Given the description of an element on the screen output the (x, y) to click on. 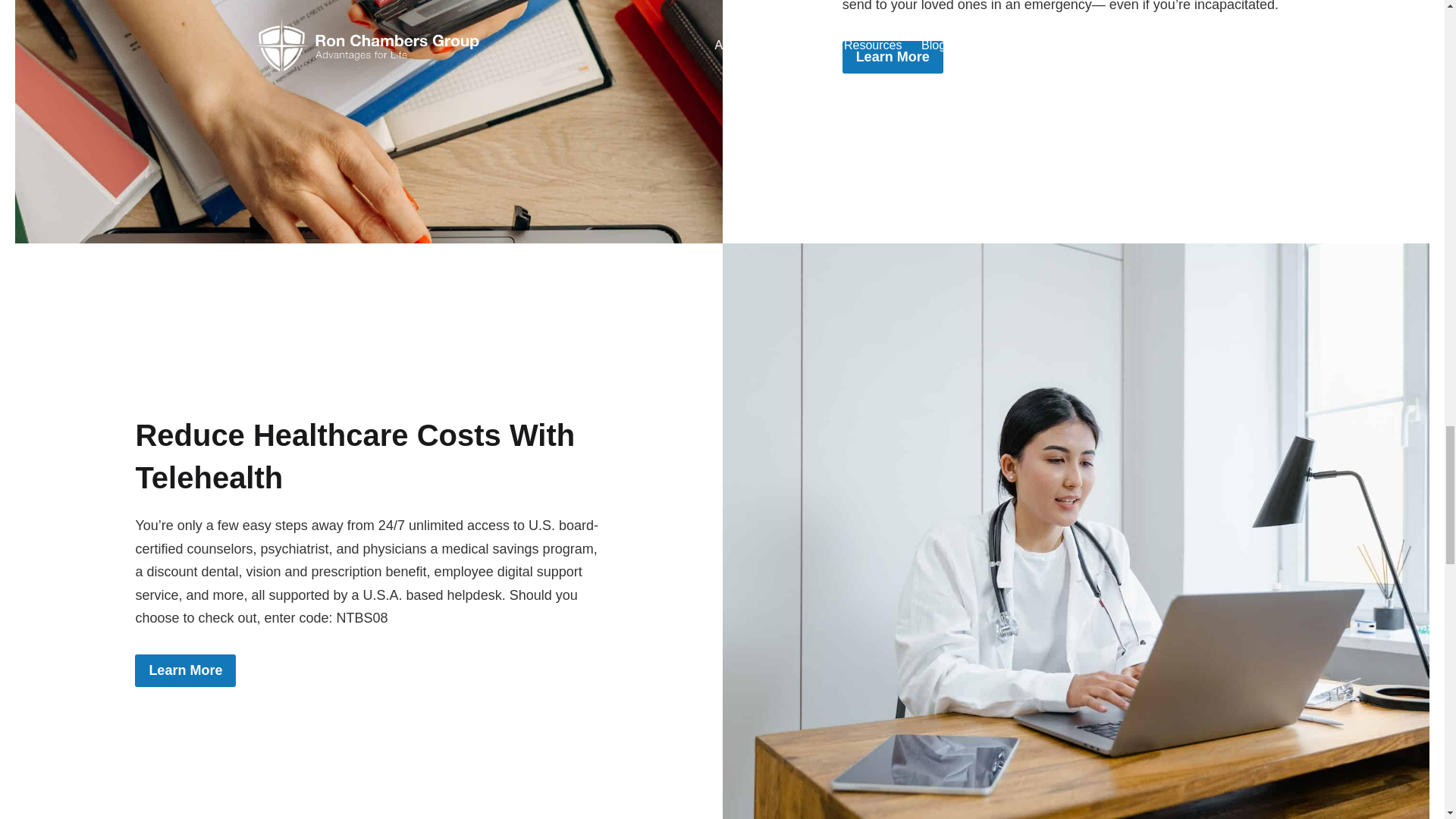
Learn More (185, 670)
Learn More (893, 56)
